Given the description of an element on the screen output the (x, y) to click on. 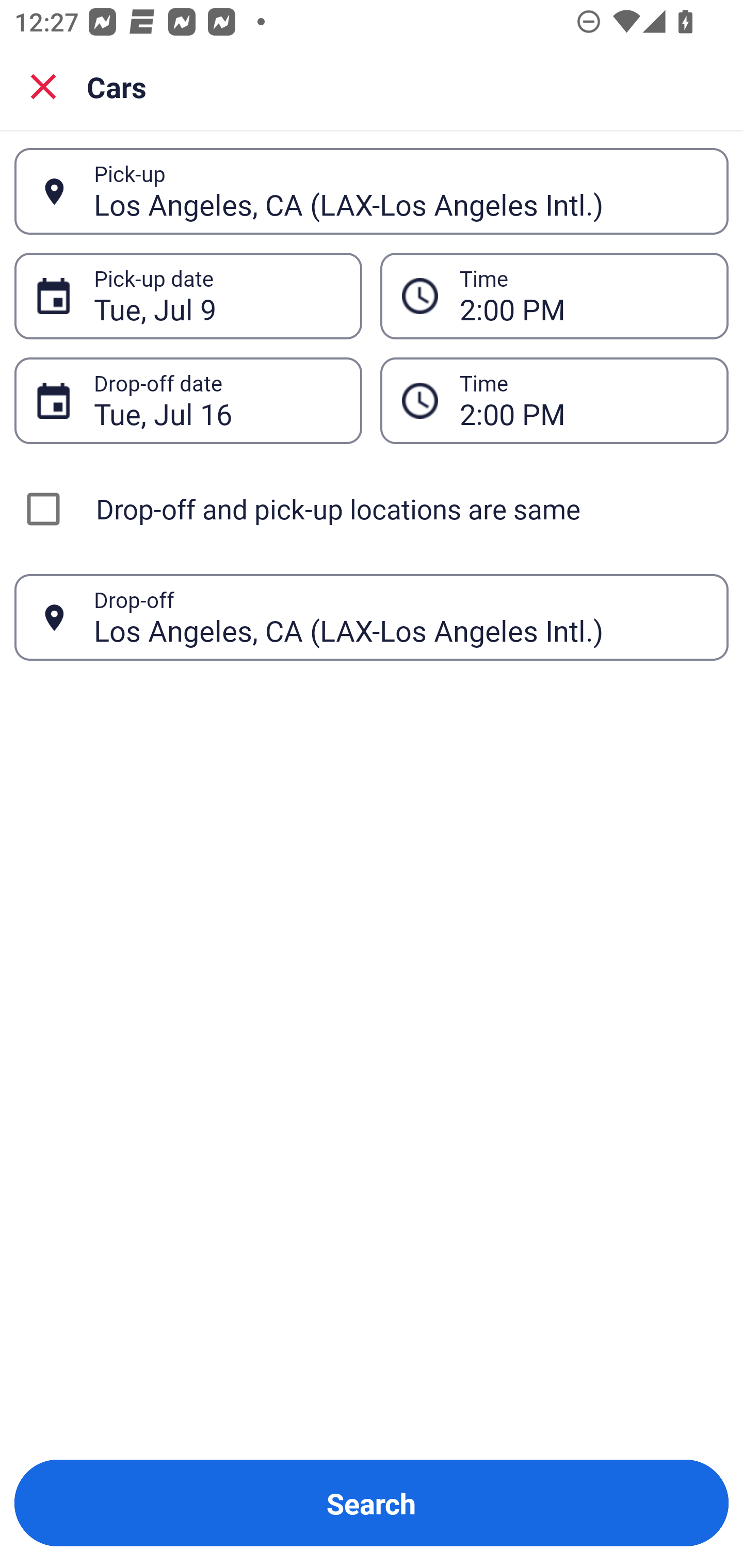
Close search screen (43, 86)
Los Angeles, CA (LAX-Los Angeles Intl.) Pick-up (371, 191)
Los Angeles, CA (LAX-Los Angeles Intl.) (399, 191)
Tue, Jul 9 Pick-up date (188, 295)
2:00 PM (554, 295)
Tue, Jul 9 (216, 296)
2:00 PM (582, 296)
Tue, Jul 16 Drop-off date (188, 400)
2:00 PM (554, 400)
Tue, Jul 16 (216, 400)
2:00 PM (582, 400)
Drop-off and pick-up locations are same (371, 508)
Los Angeles, CA (LAX-Los Angeles Intl.) Drop-off (371, 616)
Los Angeles, CA (LAX-Los Angeles Intl.) (399, 616)
Search Button Search (371, 1502)
